Given the description of an element on the screen output the (x, y) to click on. 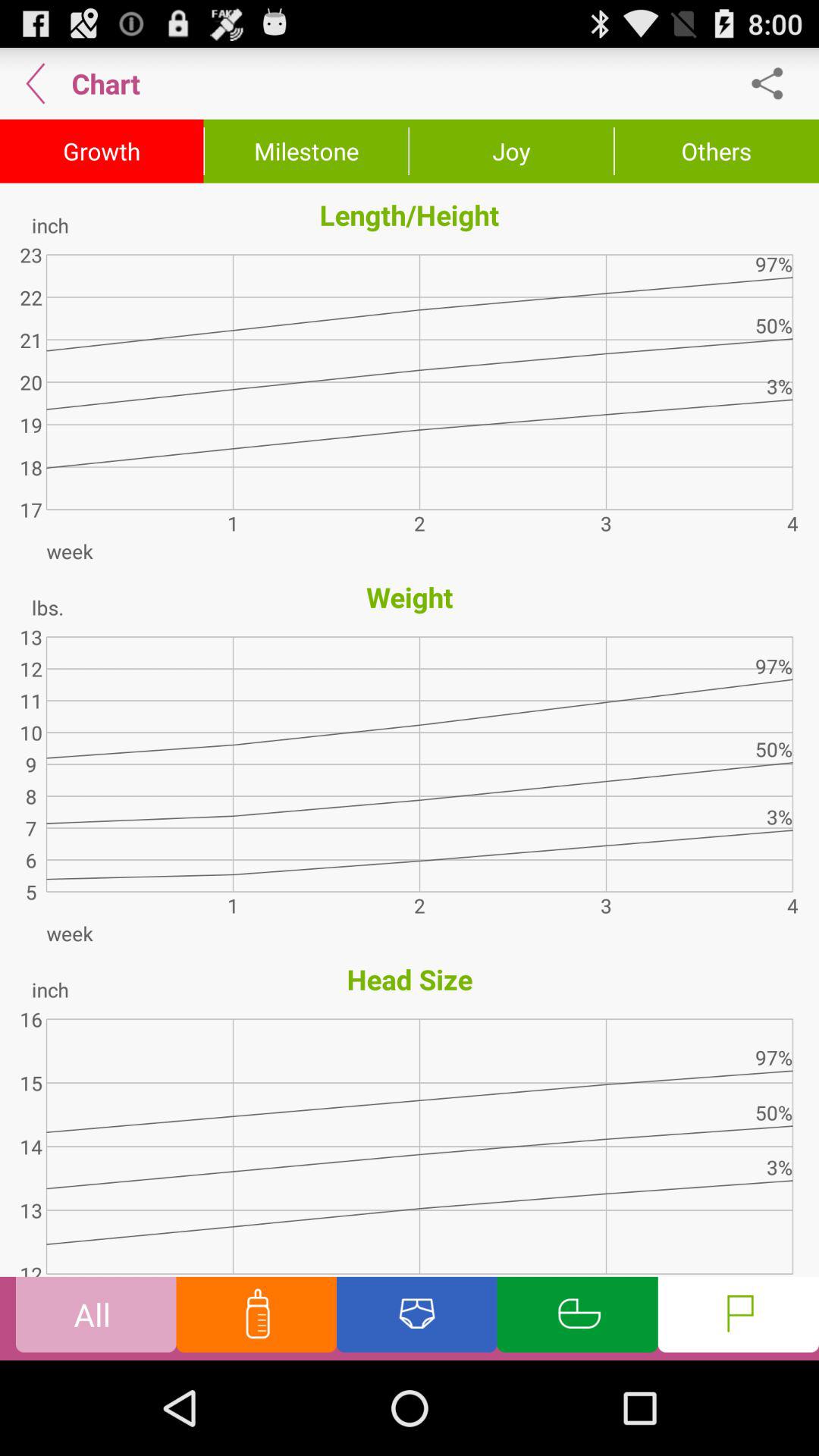
share (775, 83)
